Given the description of an element on the screen output the (x, y) to click on. 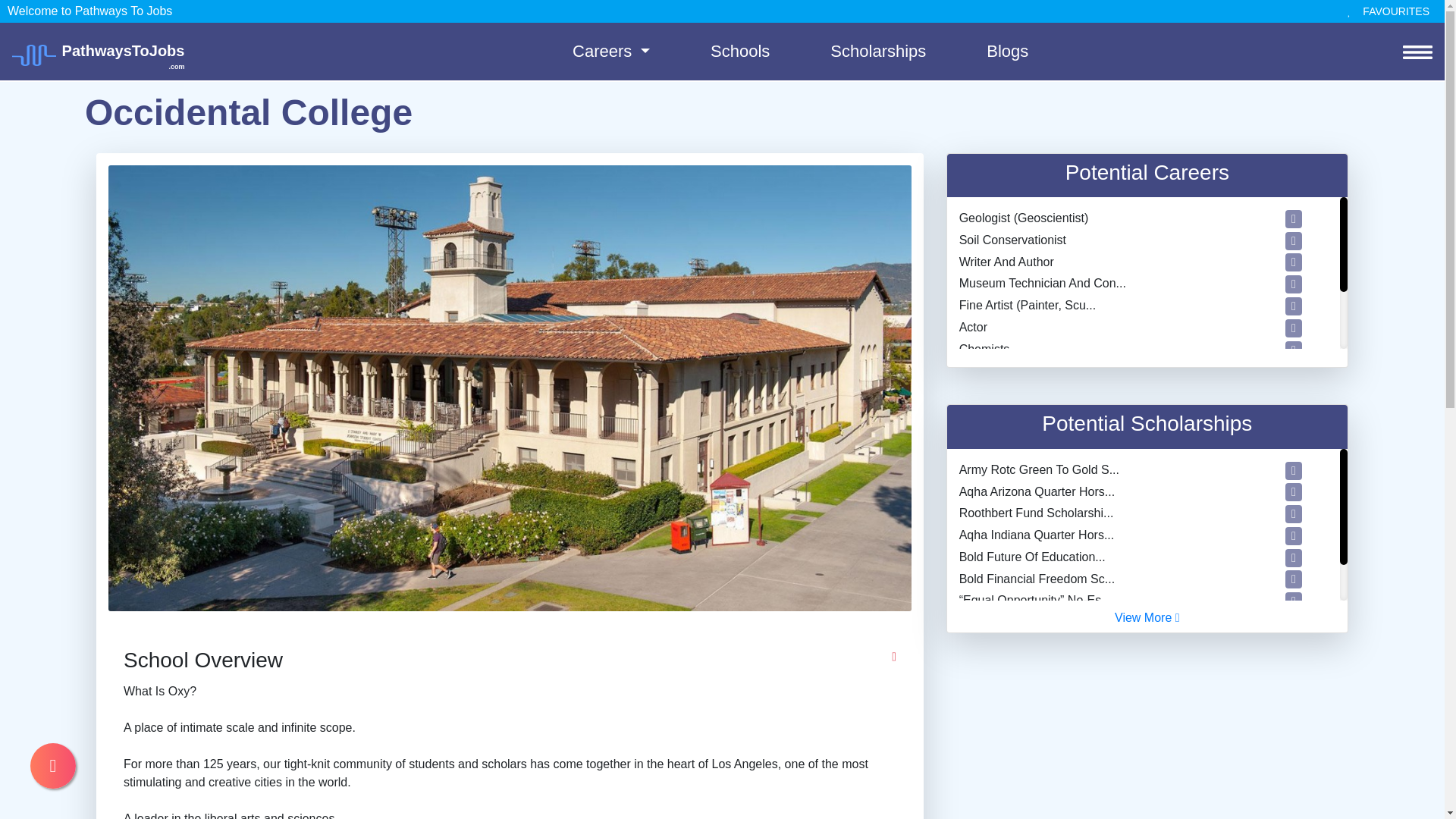
Blogs (1007, 50)
Scholarships (877, 50)
    FAVOURITES (1388, 12)
Careers (611, 50)
Schools (98, 51)
